Given the description of an element on the screen output the (x, y) to click on. 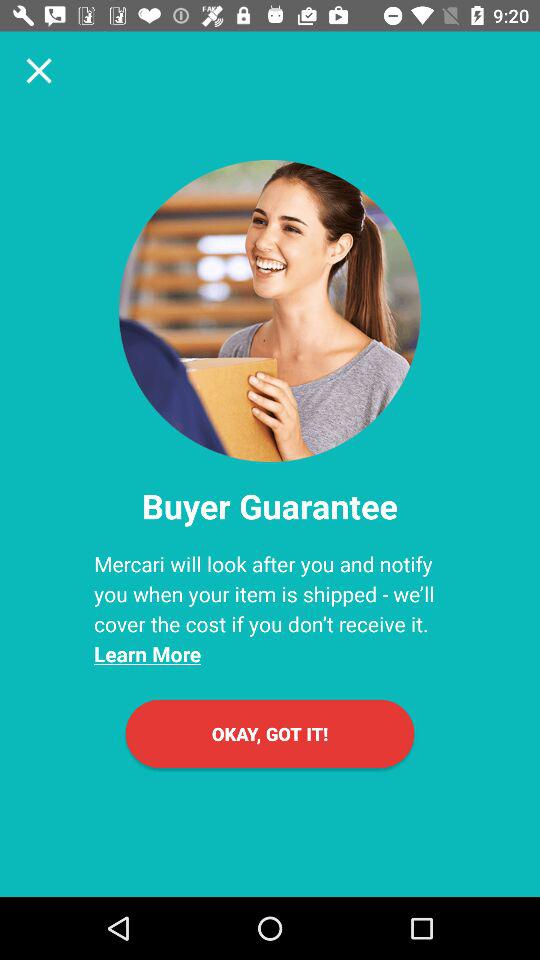
press the icon below the buyer guarantee (269, 608)
